Given the description of an element on the screen output the (x, y) to click on. 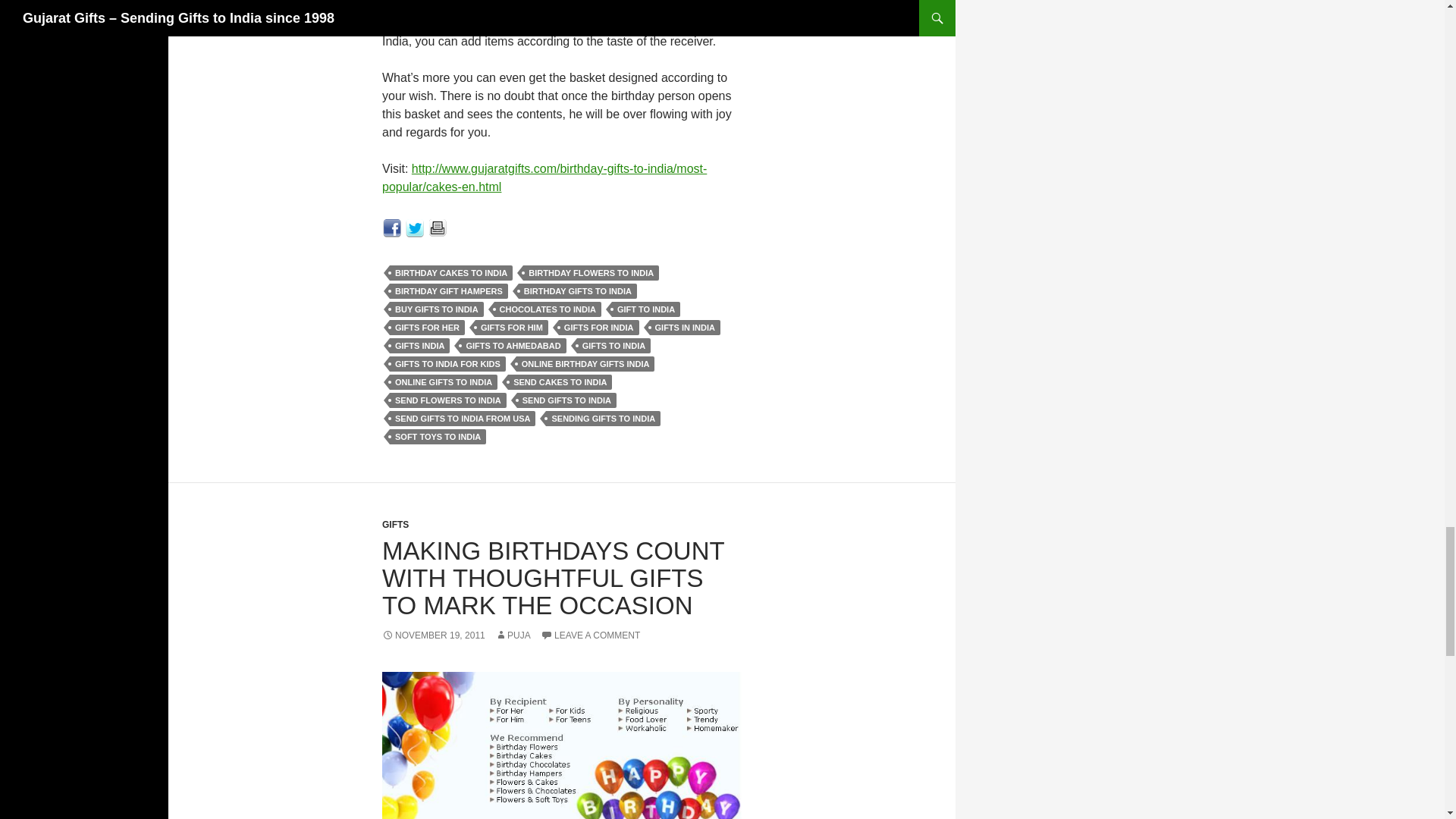
Print this page (438, 226)
